Given the description of an element on the screen output the (x, y) to click on. 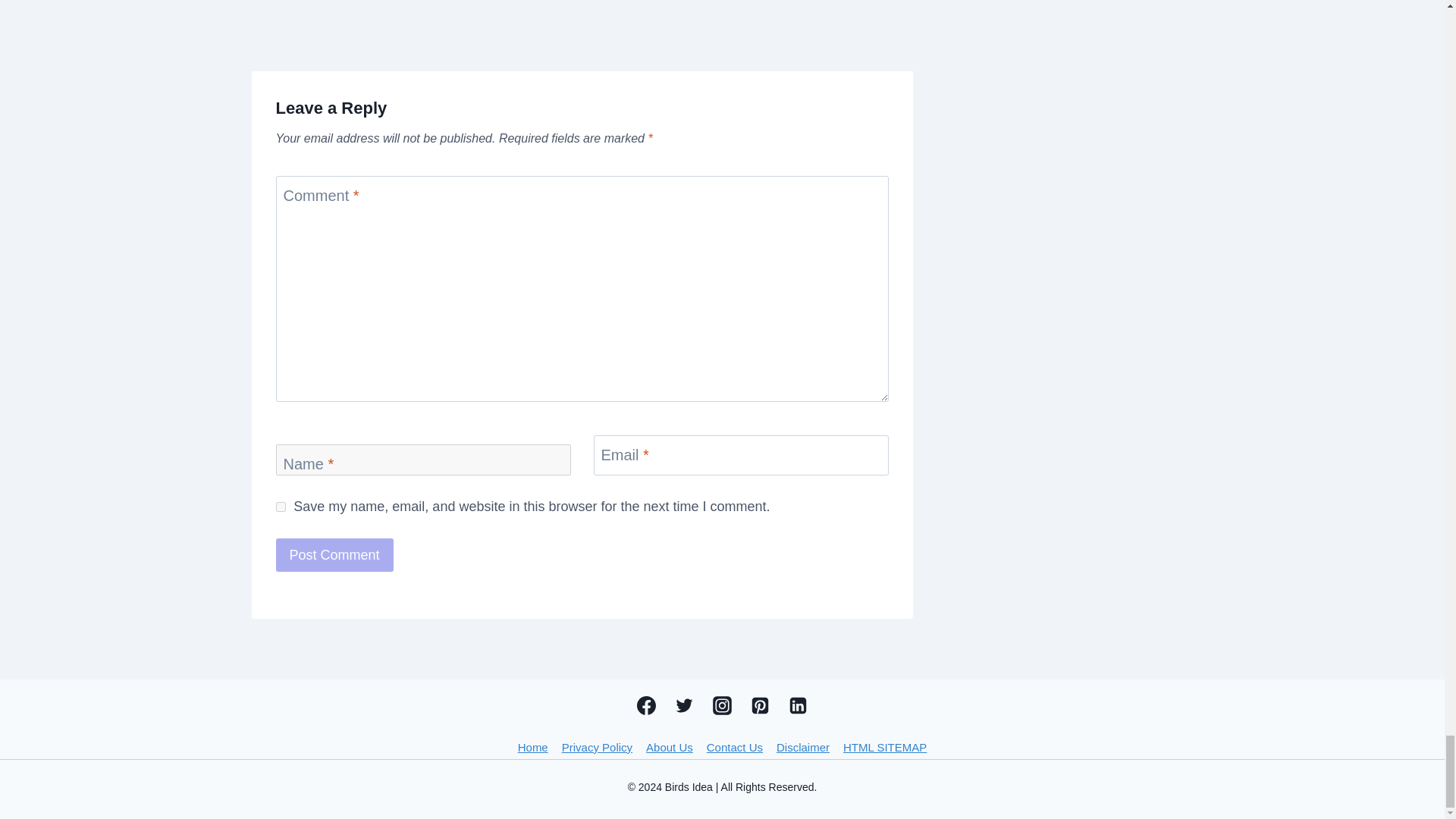
yes (280, 506)
Post Comment (334, 554)
